Given the description of an element on the screen output the (x, y) to click on. 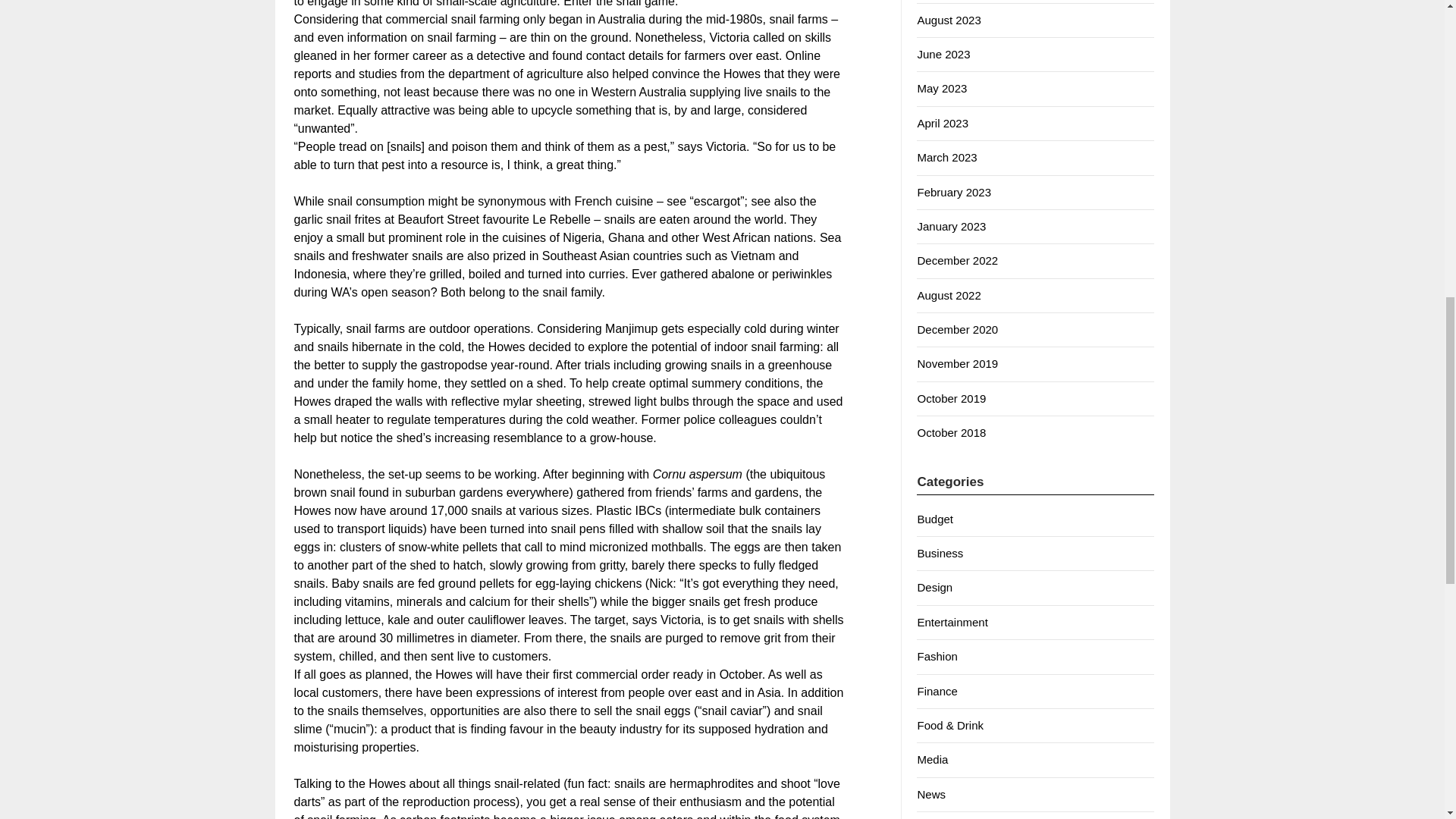
March 2023 (946, 156)
December 2020 (957, 328)
August 2022 (948, 295)
November 2019 (957, 363)
January 2023 (951, 226)
February 2023 (954, 192)
April 2023 (942, 123)
May 2023 (941, 88)
December 2022 (957, 259)
August 2023 (948, 19)
October 2019 (951, 398)
June 2023 (943, 53)
